Given the description of an element on the screen output the (x, y) to click on. 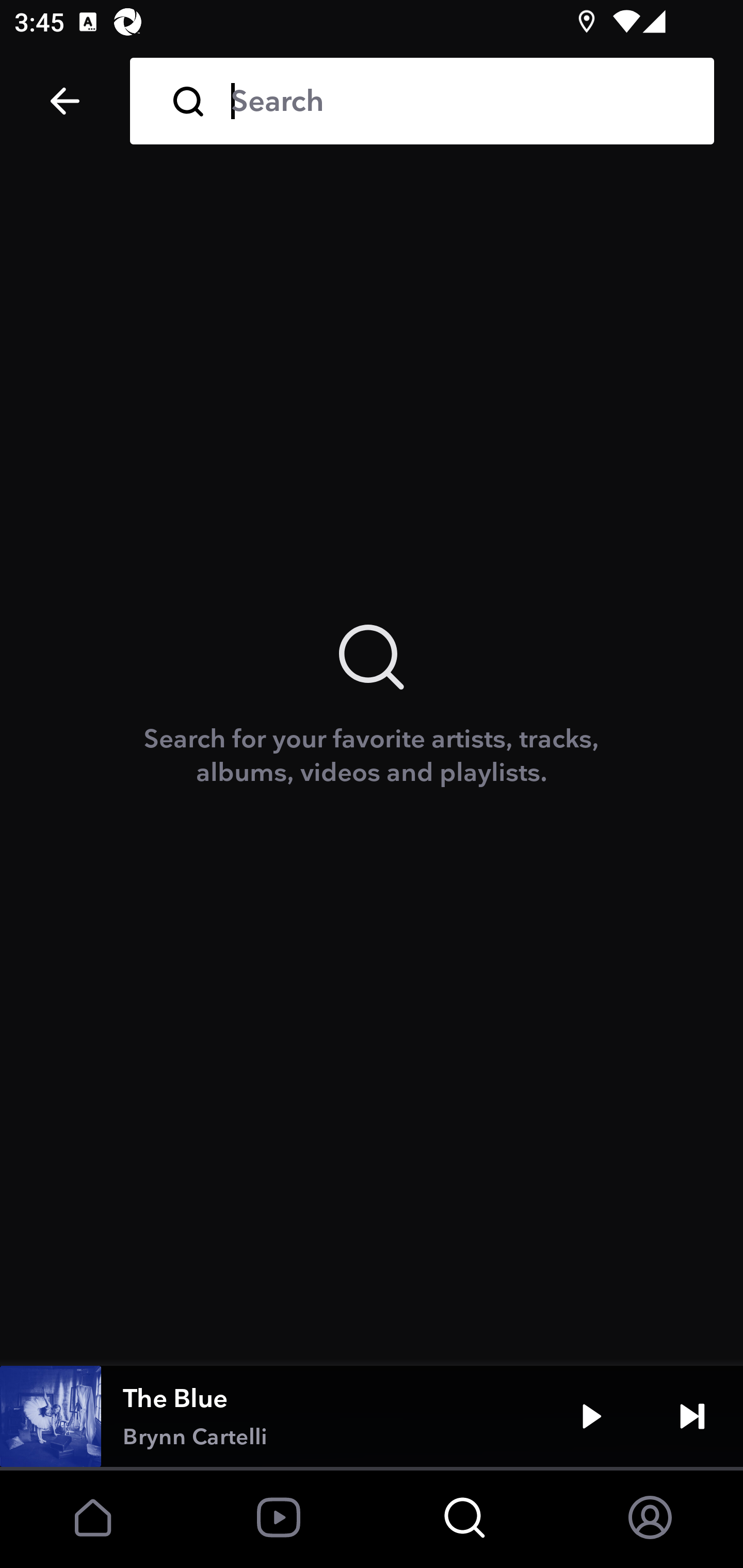
Search (457, 100)
The Blue Brynn Cartelli Play (371, 1416)
Play (590, 1416)
